Given the description of an element on the screen output the (x, y) to click on. 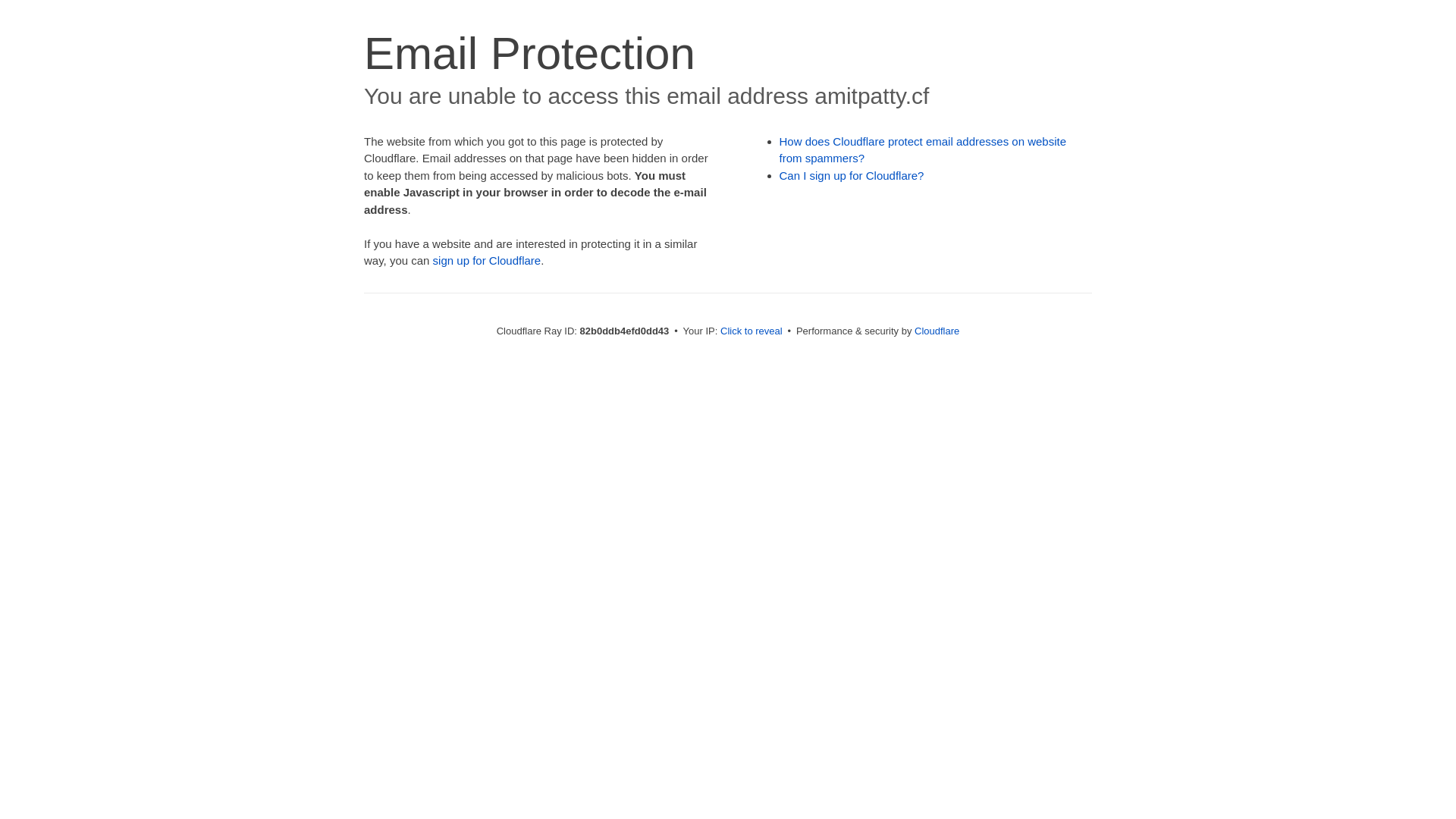
Can I sign up for Cloudflare? Element type: text (851, 175)
Click to reveal Element type: text (751, 330)
sign up for Cloudflare Element type: text (487, 260)
Cloudflare Element type: text (936, 330)
